Given the description of an element on the screen output the (x, y) to click on. 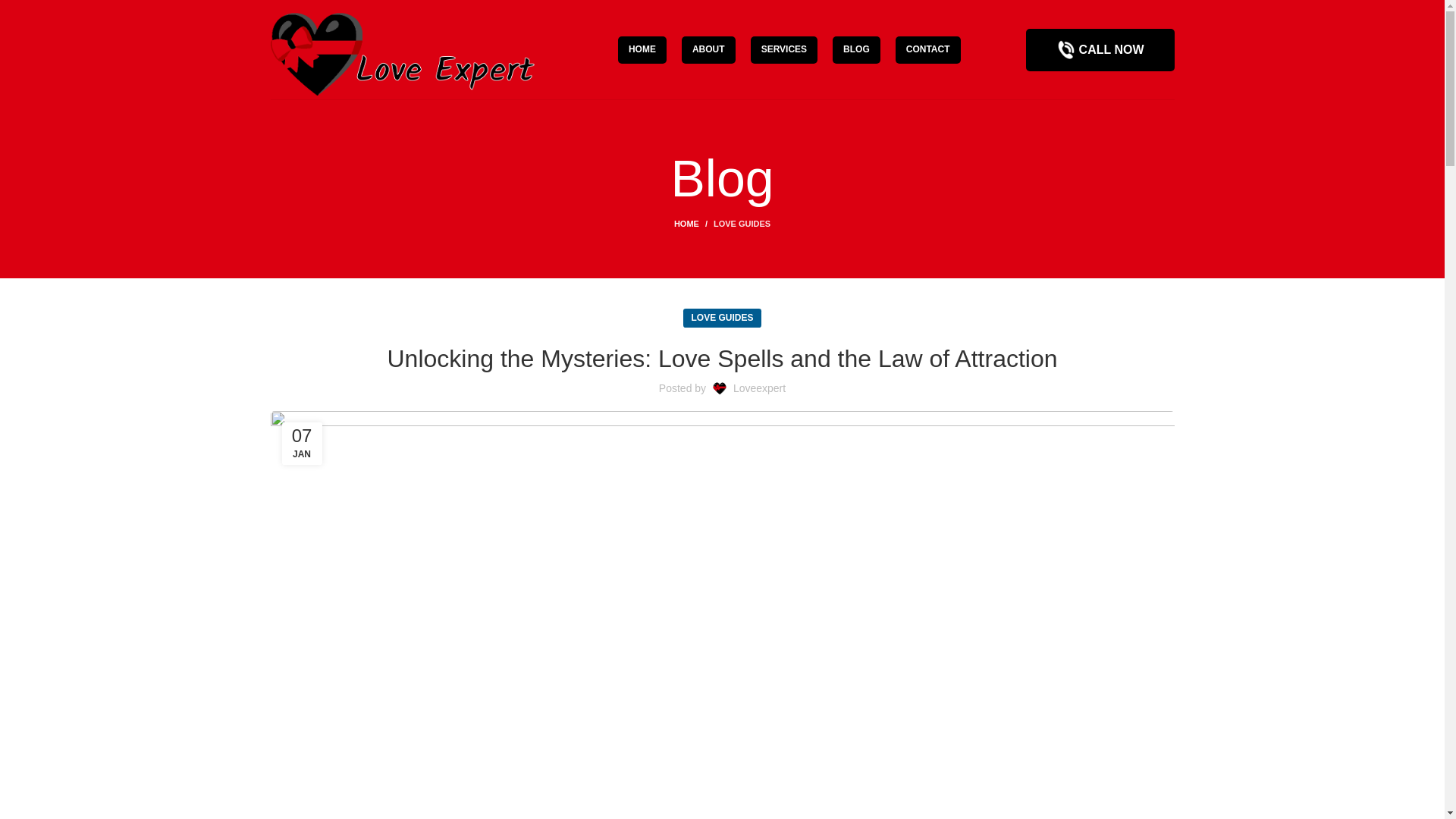
Loveexpert (759, 387)
HOME (641, 49)
ABOUT (708, 49)
SERVICES (783, 49)
HOME (693, 223)
CONTACT (927, 49)
LOVE GUIDES (741, 223)
LOVE GUIDES (721, 317)
CALL NOW (1100, 49)
BLOG (856, 49)
